Given the description of an element on the screen output the (x, y) to click on. 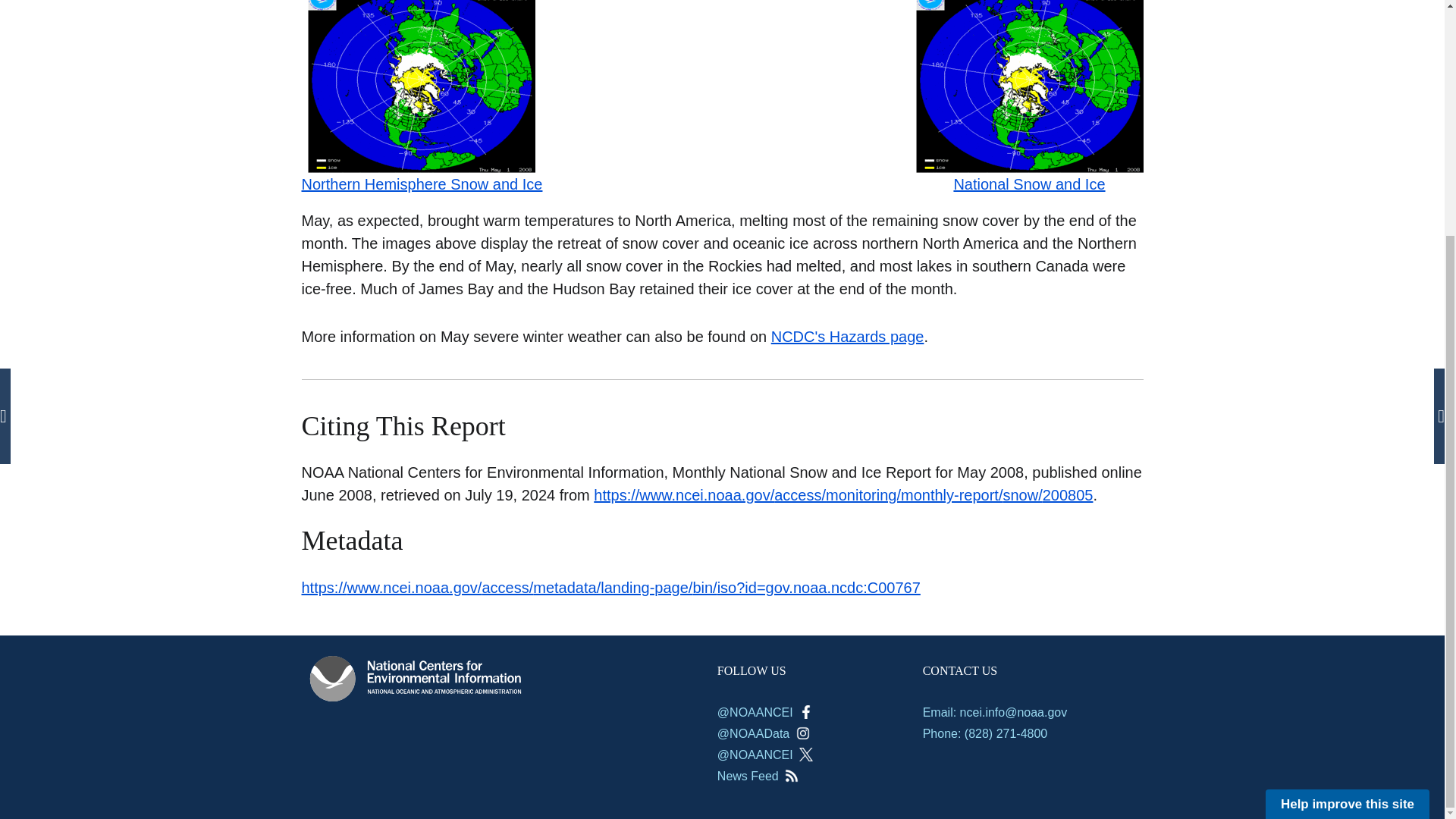
National Snow and Ice (1028, 131)
NOAA Data Instagram (802, 733)
NCEI Facebook (805, 712)
NOAA NCEI Twitter (805, 754)
NCDC's Hazards page (847, 336)
Northern Hemisphere Snow and Ice (422, 131)
NCEI RSS Feed (790, 775)
Link to NCEI's Homepage (415, 678)
News Feed (757, 775)
Help improve this site (1347, 482)
